Given the description of an element on the screen output the (x, y) to click on. 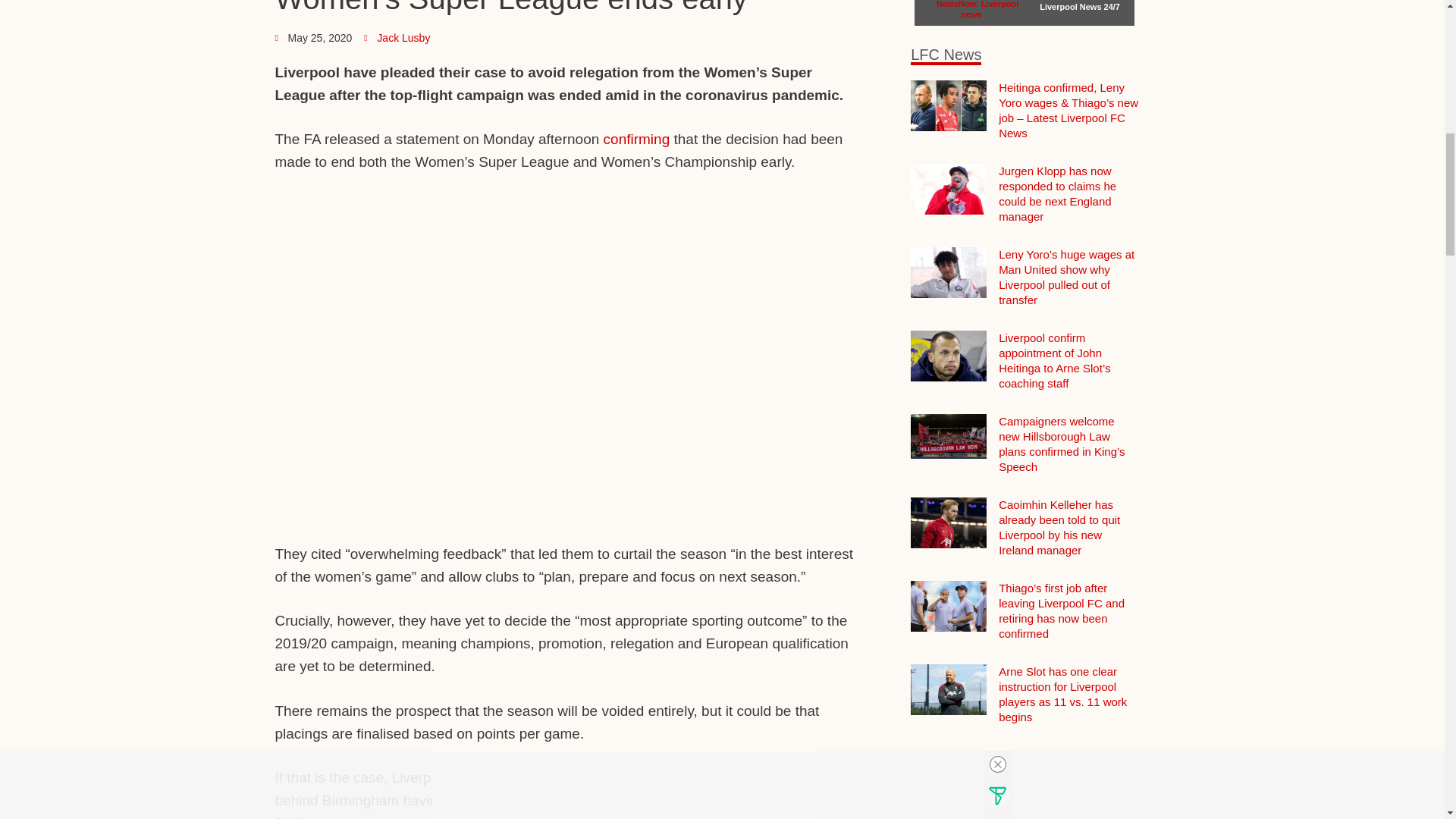
3rd party ad content (568, 229)
